Given the description of an element on the screen output the (x, y) to click on. 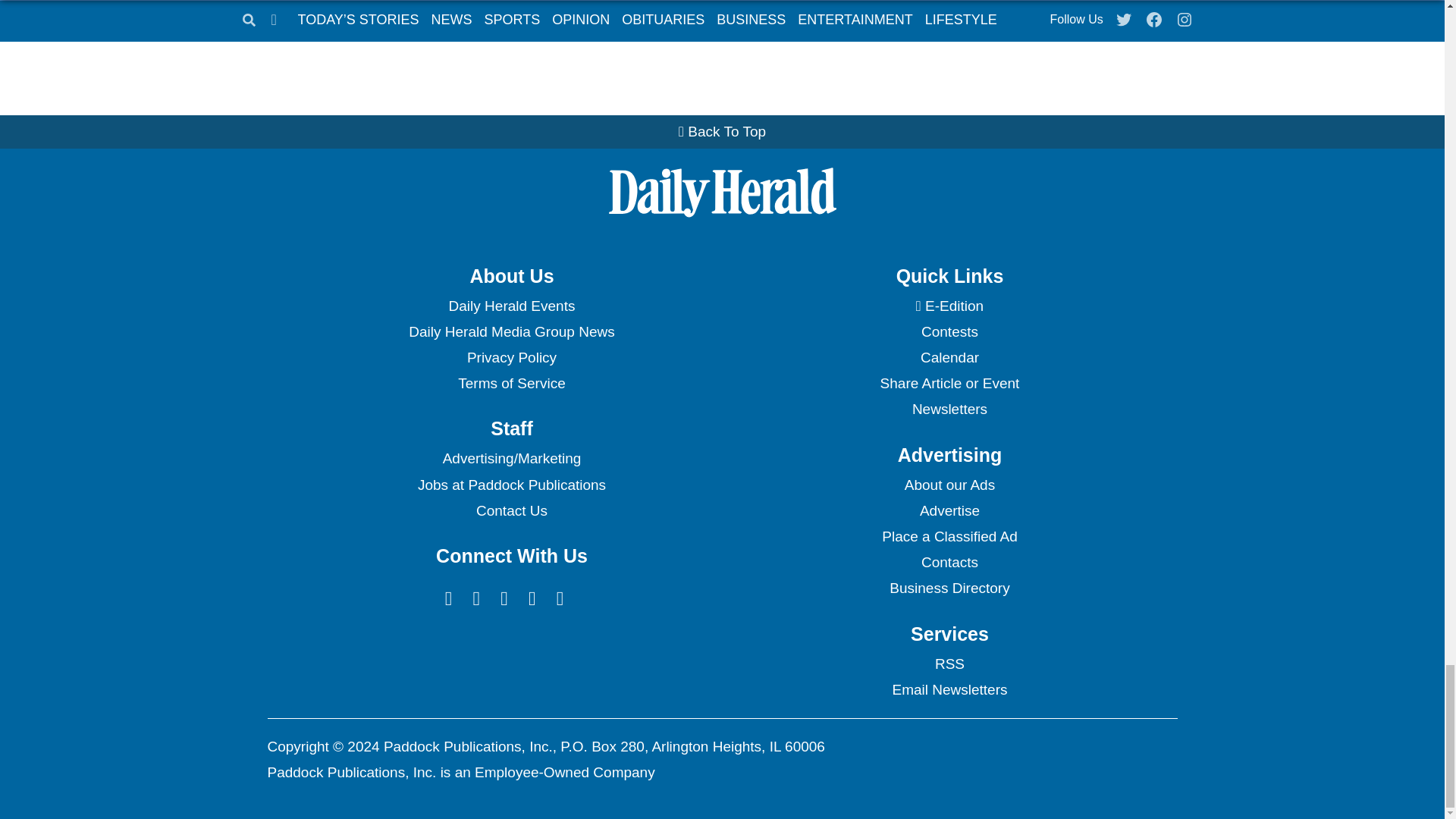
Daily Herald Events (511, 306)
Daily Herald Media Group News (511, 331)
Privacy Policy (511, 357)
Terms of Service (511, 383)
